Given the description of an element on the screen output the (x, y) to click on. 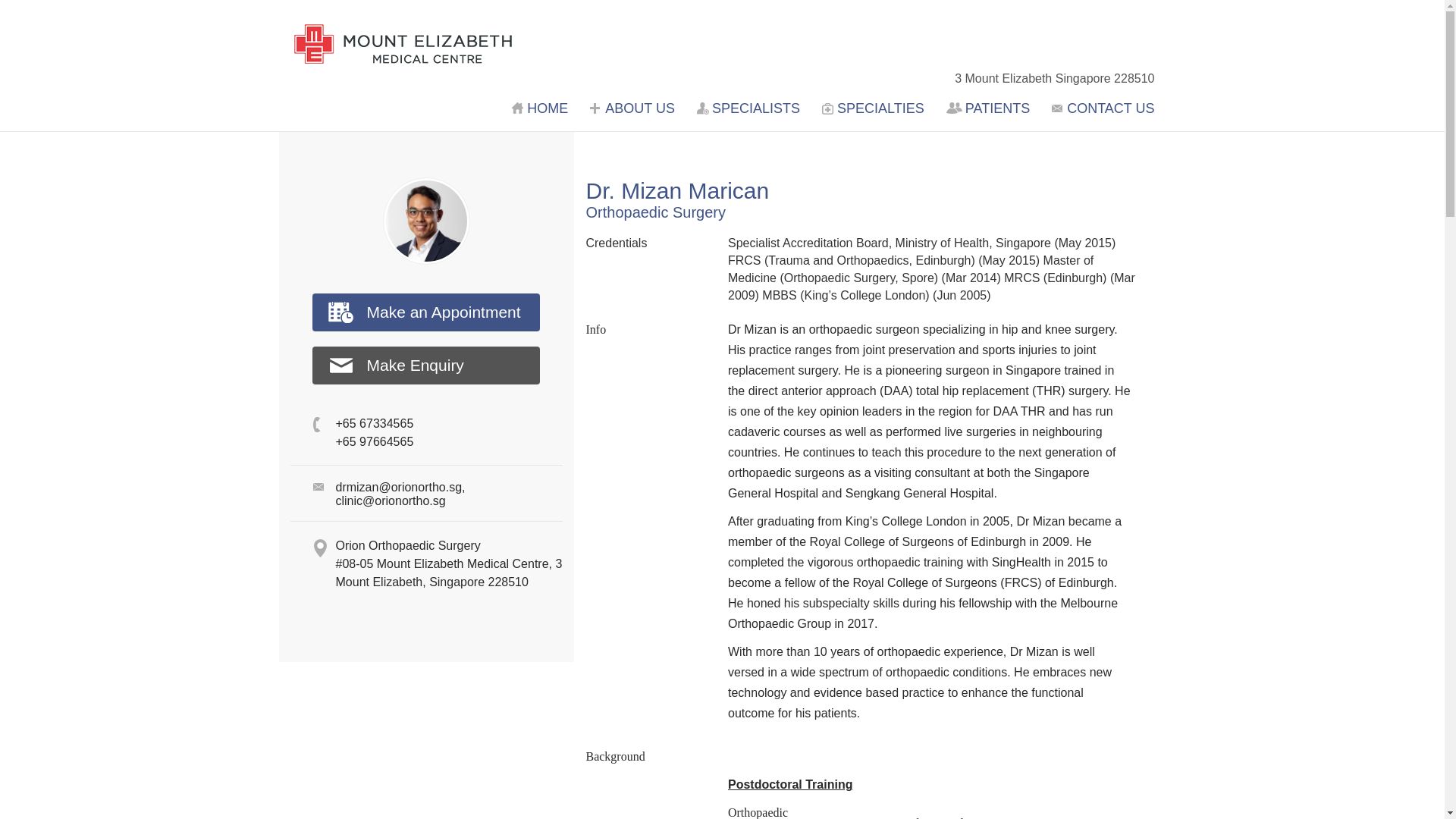
Orthopaedic Surgery (655, 211)
HOME (542, 108)
CONTACT US (1102, 108)
SPECIALISTS (750, 108)
ABOUT US (633, 108)
PATIENTS (989, 108)
SPECIALTIES (875, 108)
Make Enquiry (426, 365)
Make an Appointment (426, 312)
3 Mount Elizabeth Singapore 228510 (1046, 78)
